Given the description of an element on the screen output the (x, y) to click on. 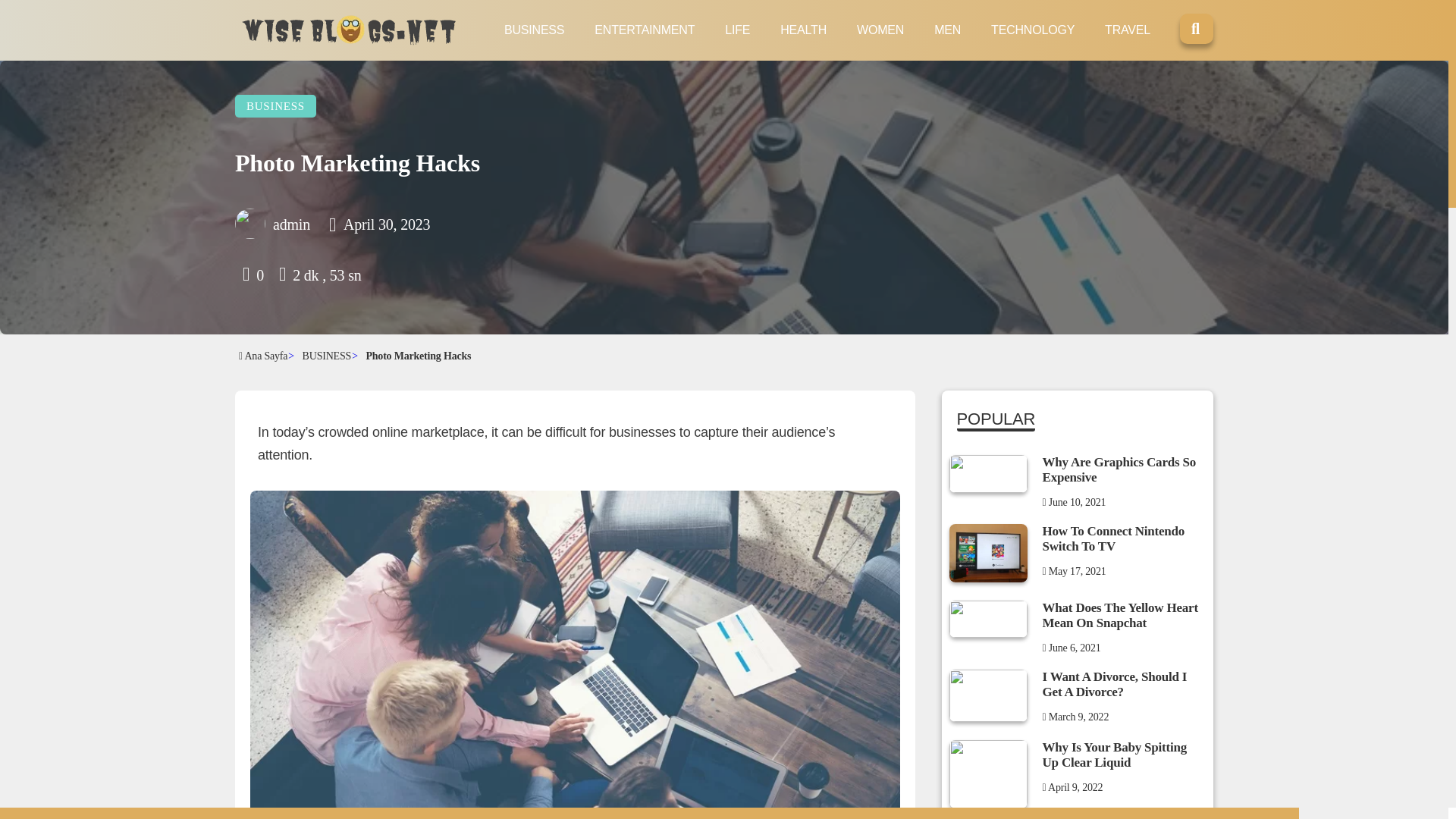
TECHNOLOGY (1032, 29)
HEALTH (803, 29)
TRAVEL (1127, 29)
ENTERTAINMENT (644, 29)
BUSINESS (533, 29)
WOMEN (880, 29)
BUSINESS (274, 106)
LIFE (737, 29)
MEN (947, 29)
